Given the description of an element on the screen output the (x, y) to click on. 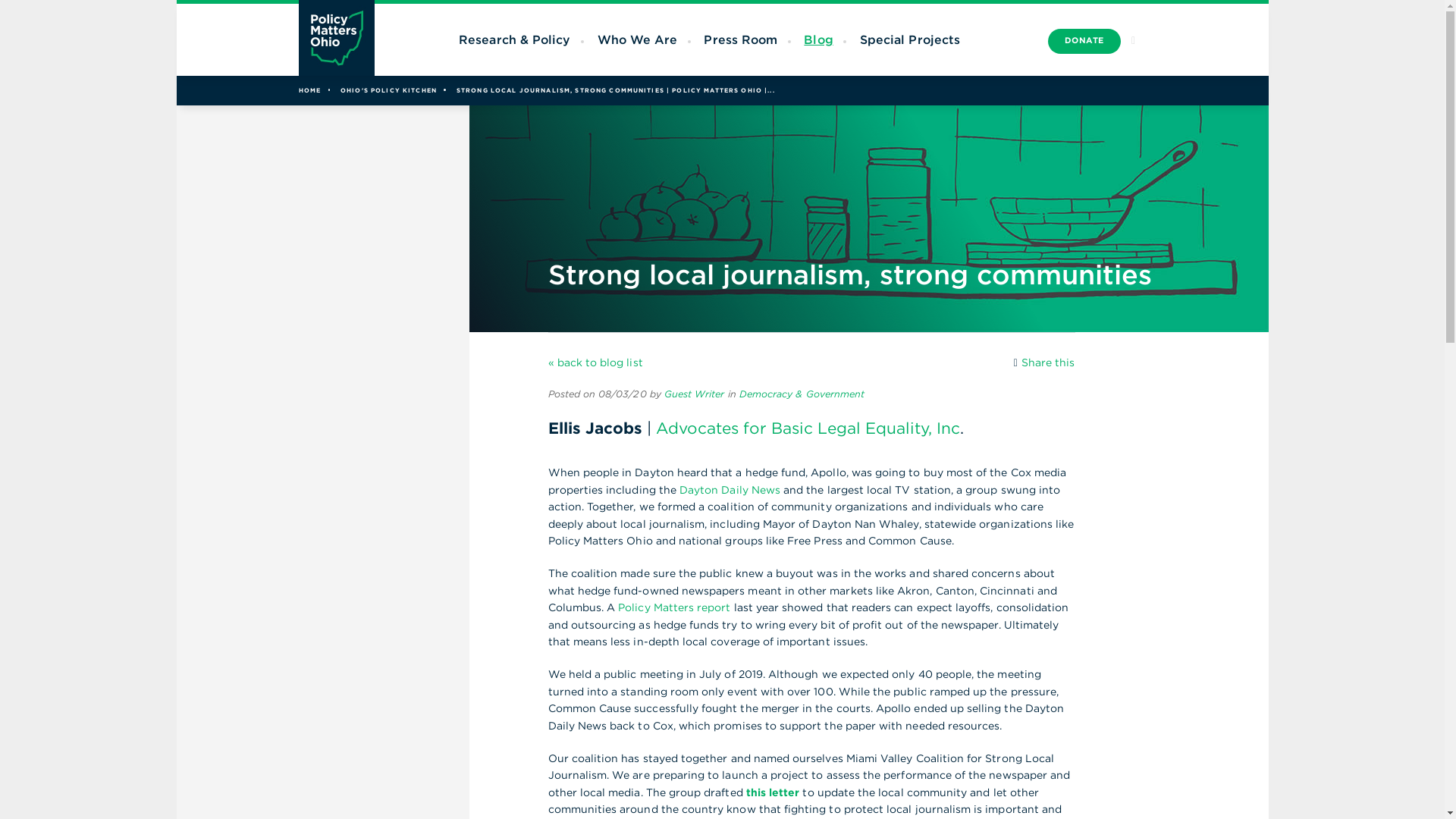
Who We Are (637, 39)
Press Room (740, 39)
Who We Are (637, 39)
DONATE (1084, 41)
Press Room (740, 39)
Blog (817, 39)
Special Projects (909, 39)
